Given the description of an element on the screen output the (x, y) to click on. 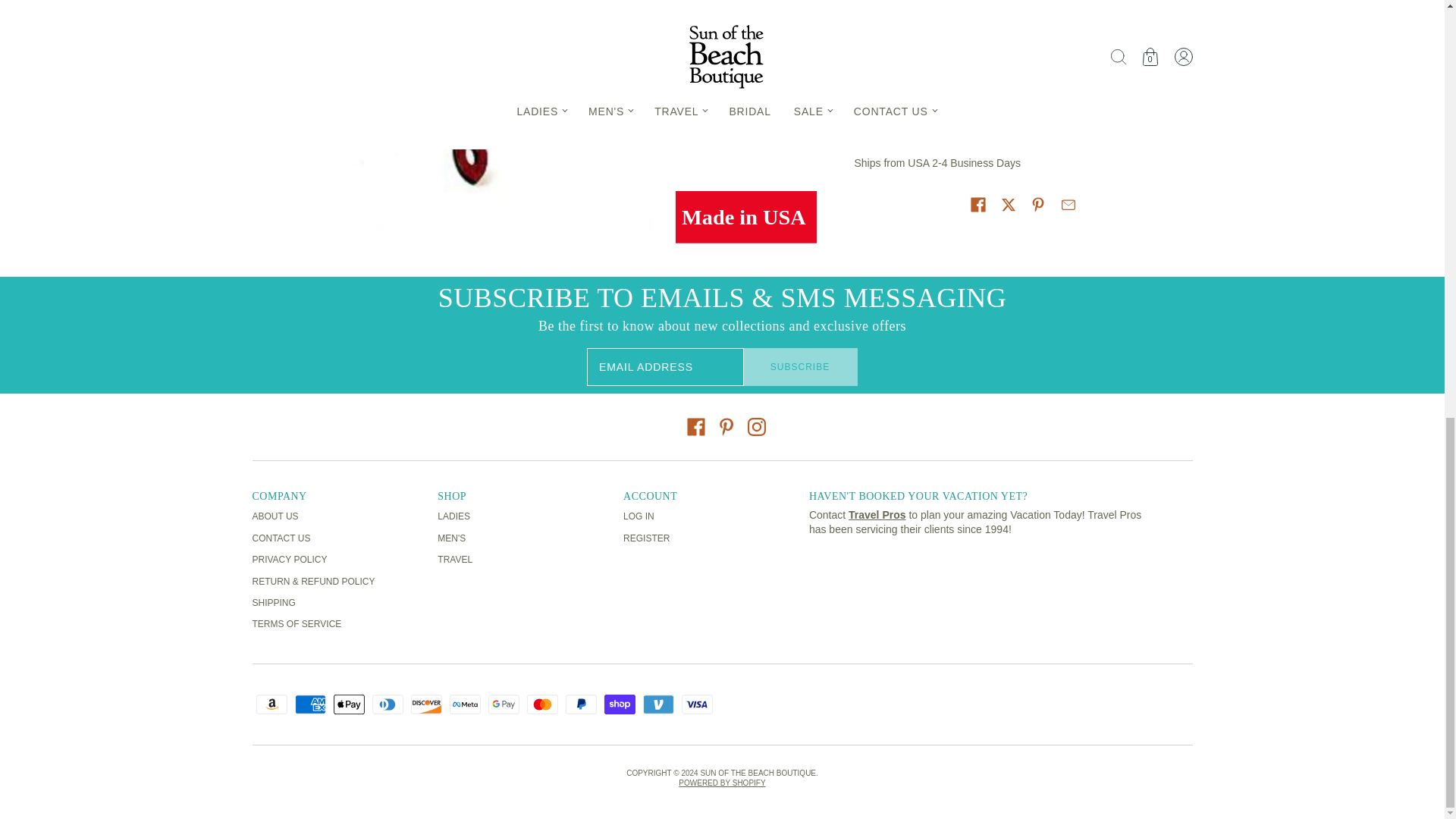
Diners Club (387, 704)
Amazon (271, 704)
Apple Pay (349, 704)
Discover (426, 704)
American Express (309, 704)
